Given the description of an element on the screen output the (x, y) to click on. 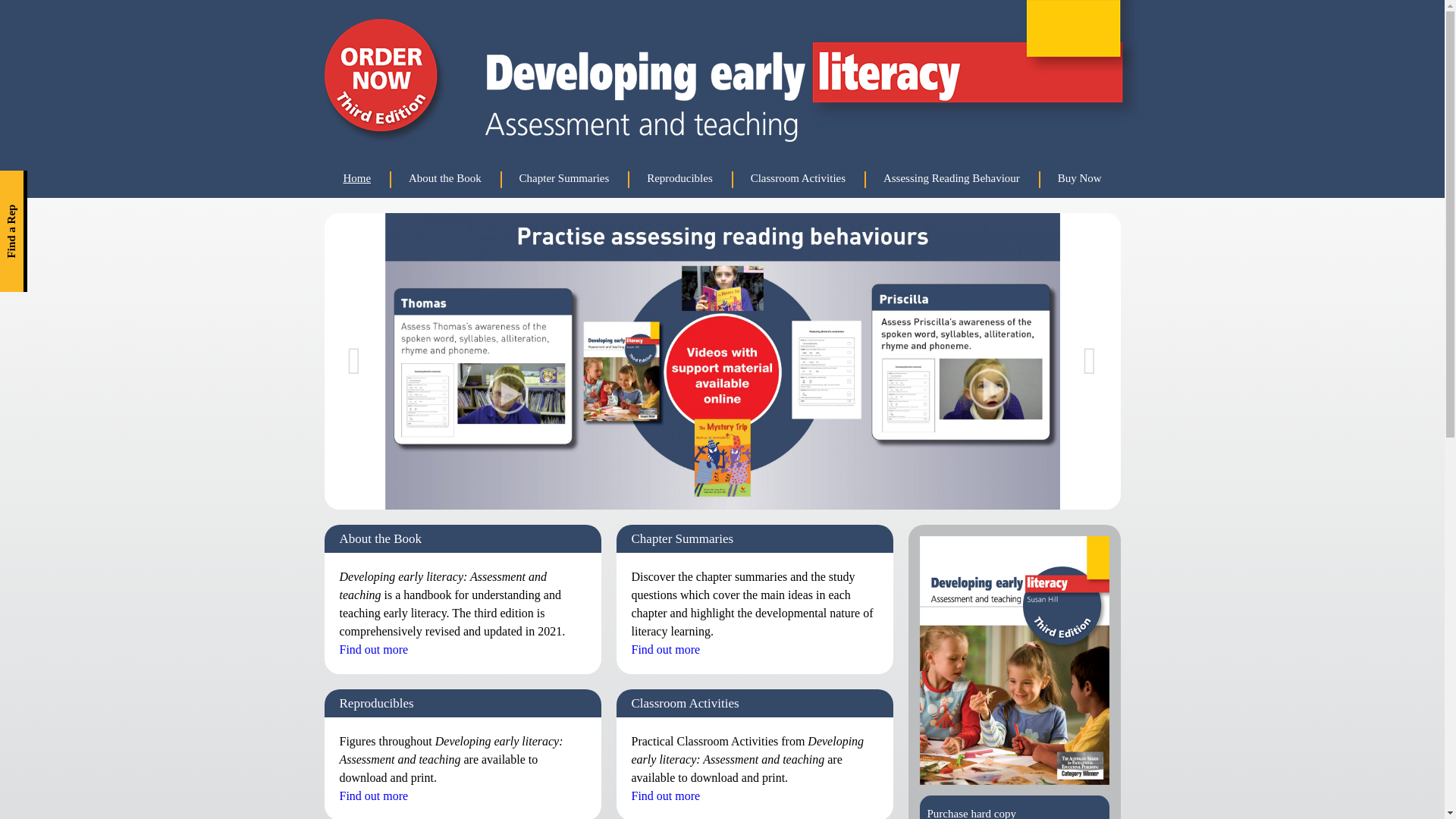
Previous Element type: text (354, 361)
About the Book Element type: text (444, 178)
Reproducibles Element type: text (376, 703)
Reproducibles Element type: text (679, 178)
Chapter Summaries Element type: text (564, 178)
About the Book Element type: text (380, 538)
Classroom Activities Element type: text (797, 178)
Home Element type: text (357, 178)
Find out more Element type: text (373, 649)
Buy Now Element type: text (1079, 178)
Find out more Element type: text (664, 649)
Next Element type: text (1090, 361)
Classroom Activities Element type: text (684, 703)
Find out more Element type: text (373, 795)
Find a Rep Element type: text (60, 183)
Find out more Element type: text (664, 795)
Chapter Summaries Element type: text (681, 538)
Assessing Reading Behaviour Element type: text (951, 178)
